Given the description of an element on the screen output the (x, y) to click on. 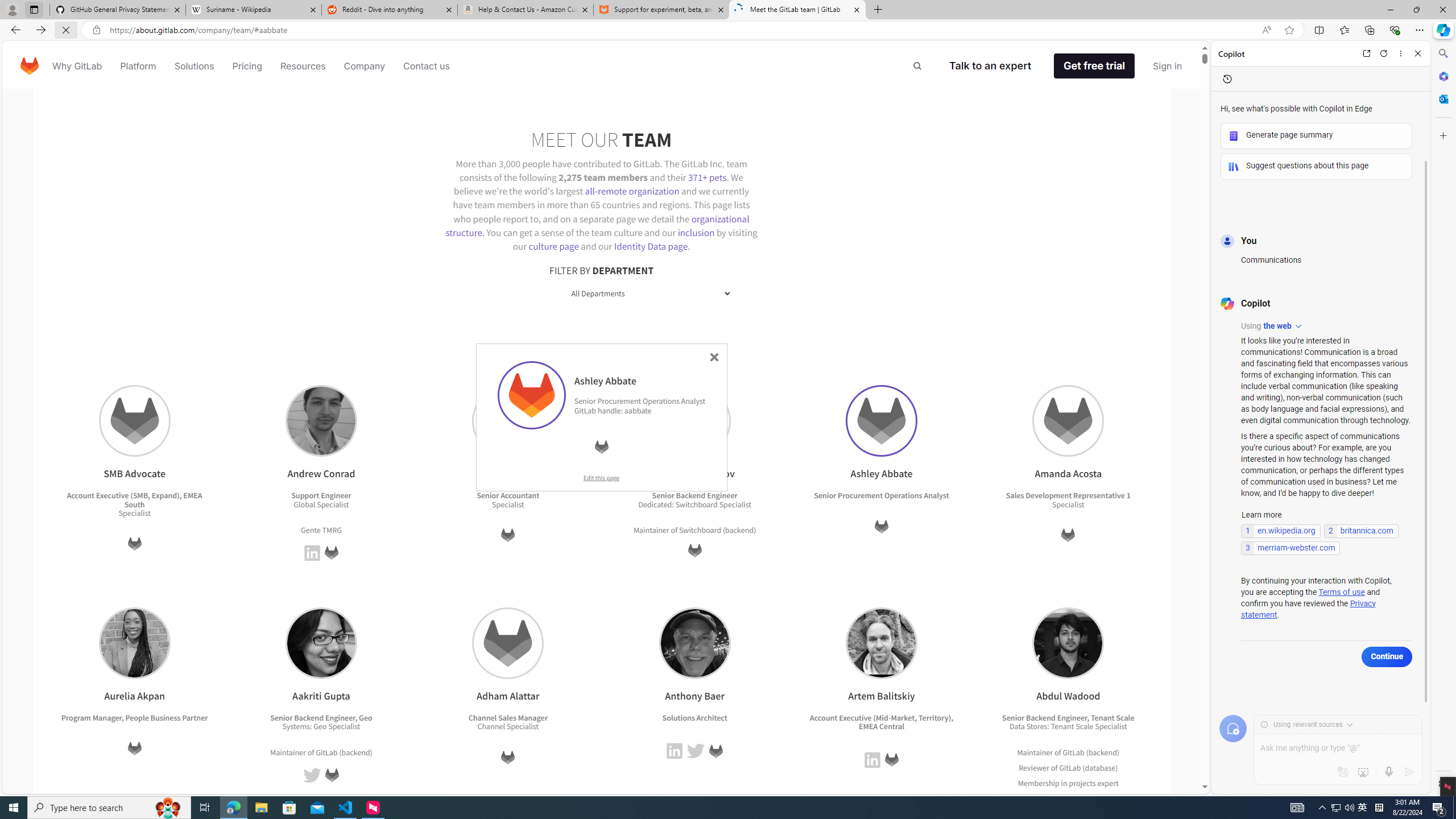
Andrey Ruzmanov (695, 420)
Identity Data page (650, 246)
Reviewer (1034, 767)
Meet the GitLab team | GitLab (797, 9)
Senior Procurement Operations Analyst (639, 400)
Specialist (1110, 726)
Abdul Wadood (1068, 642)
Why GitLab (77, 65)
Solutions (193, 65)
Artem Balitskiy (881, 642)
Aurelia Akpan (134, 642)
